Given the description of an element on the screen output the (x, y) to click on. 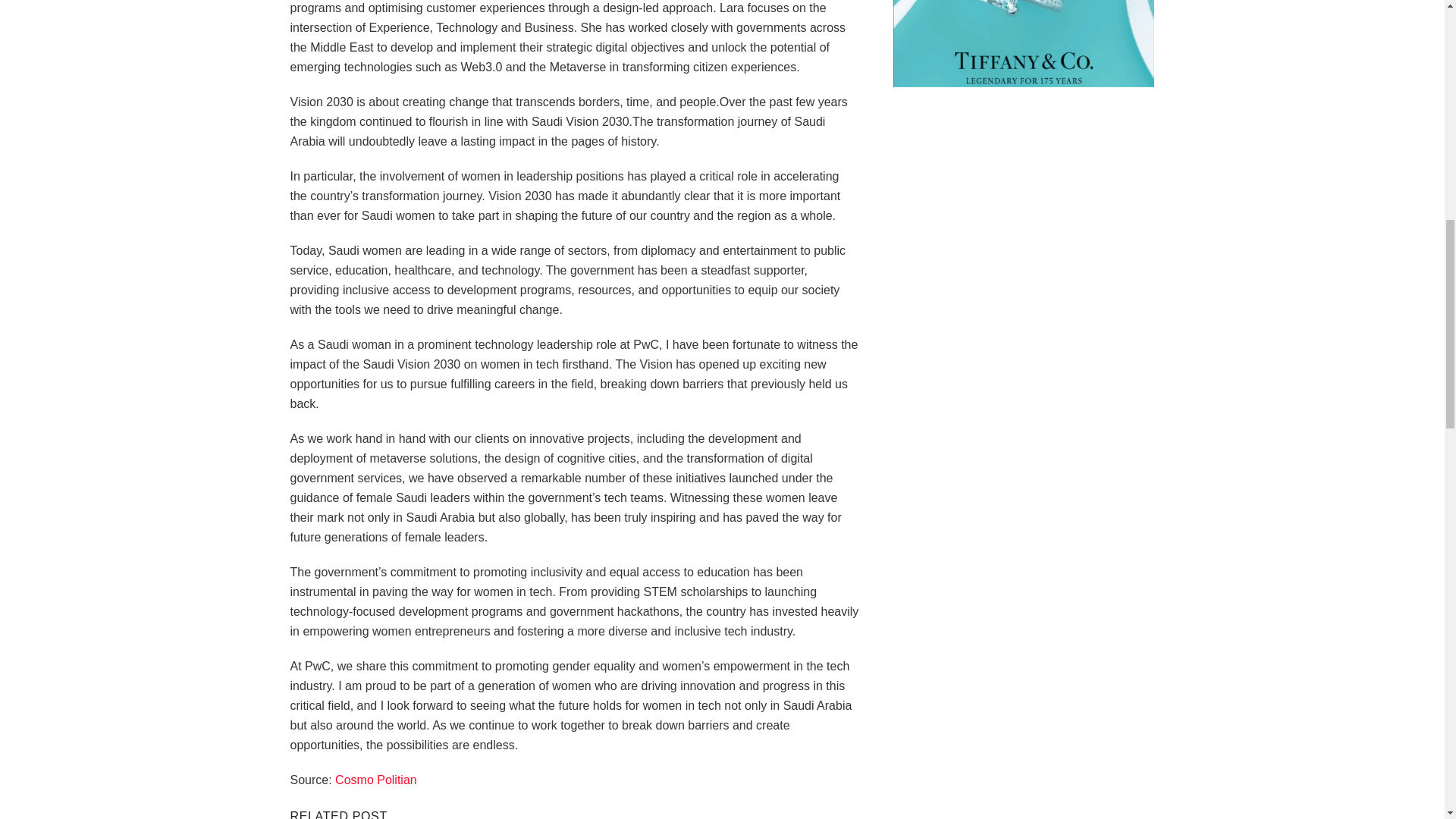
Cosmo Politian (375, 779)
